Given the description of an element on the screen output the (x, y) to click on. 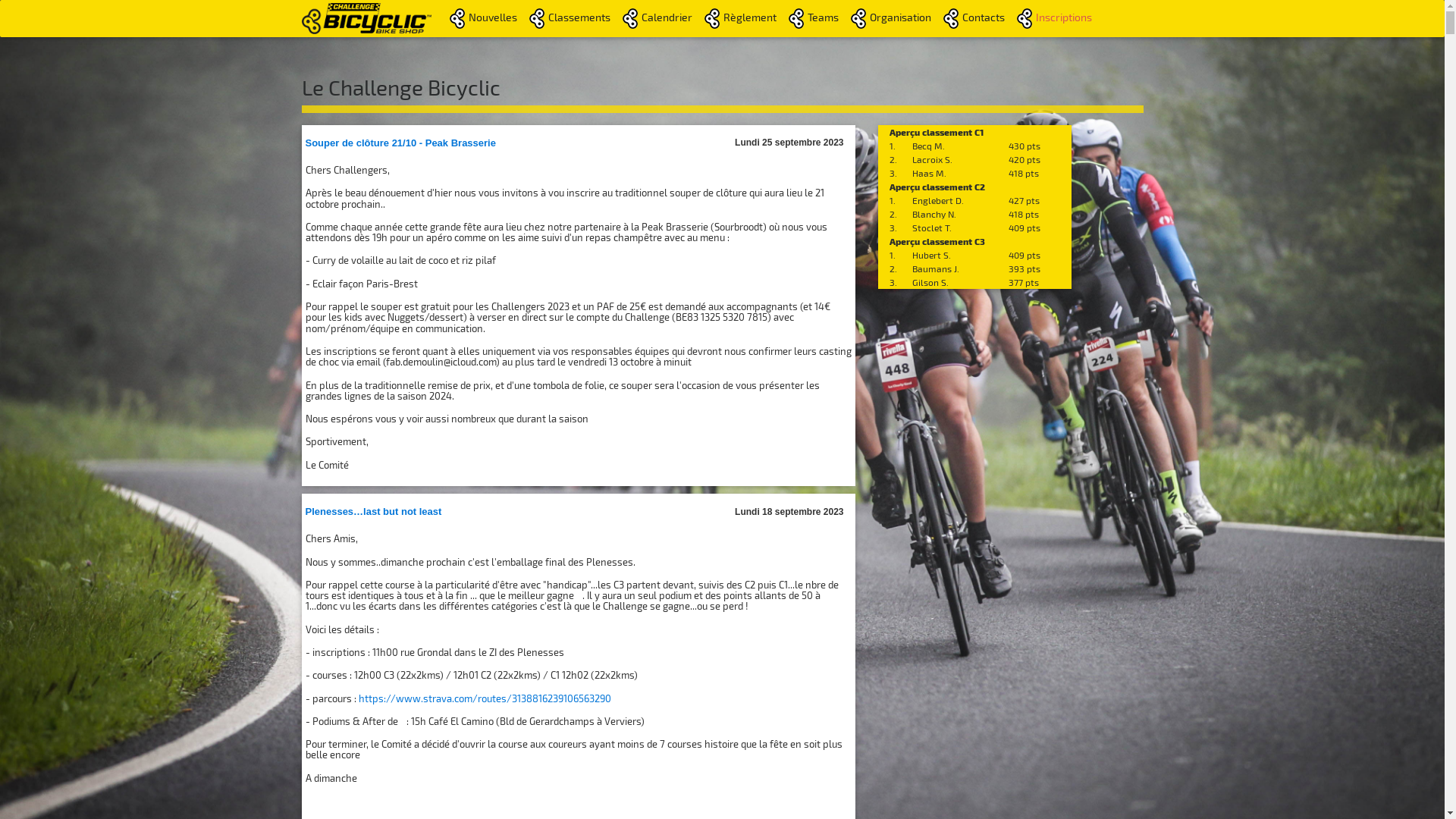
Teams Element type: text (813, 18)
Organisation Element type: text (890, 18)
Nouvelles Element type: text (483, 18)
Classements
(current) Element type: text (569, 18)
 https://www.strava.com/routes/3138816239106563290 Element type: text (483, 698)
Calendrier Element type: text (657, 18)
Inscriptions Element type: text (1054, 18)
Contacts Element type: text (973, 18)
